Given the description of an element on the screen output the (x, y) to click on. 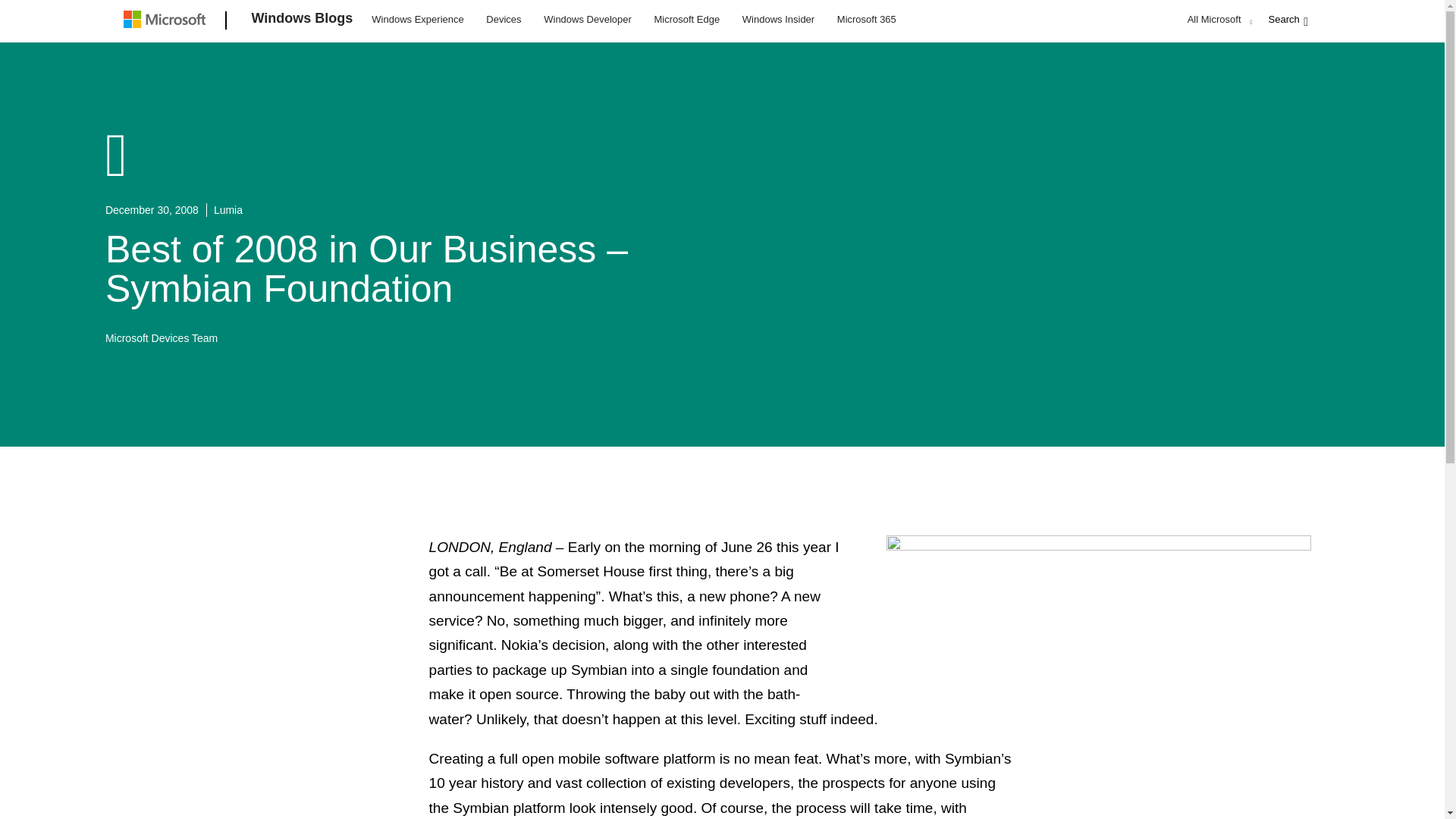
Windows Insider (778, 18)
Devices (503, 18)
Best of 2008 in Our Business - Symbian Foundation (1098, 602)
All Microsoft (1217, 18)
Windows Developer (588, 18)
Microsoft (167, 20)
Microsoft Edge (686, 18)
Windows Experience (417, 18)
Microsoft 365 (865, 18)
Windows Blogs (302, 20)
